Given the description of an element on the screen output the (x, y) to click on. 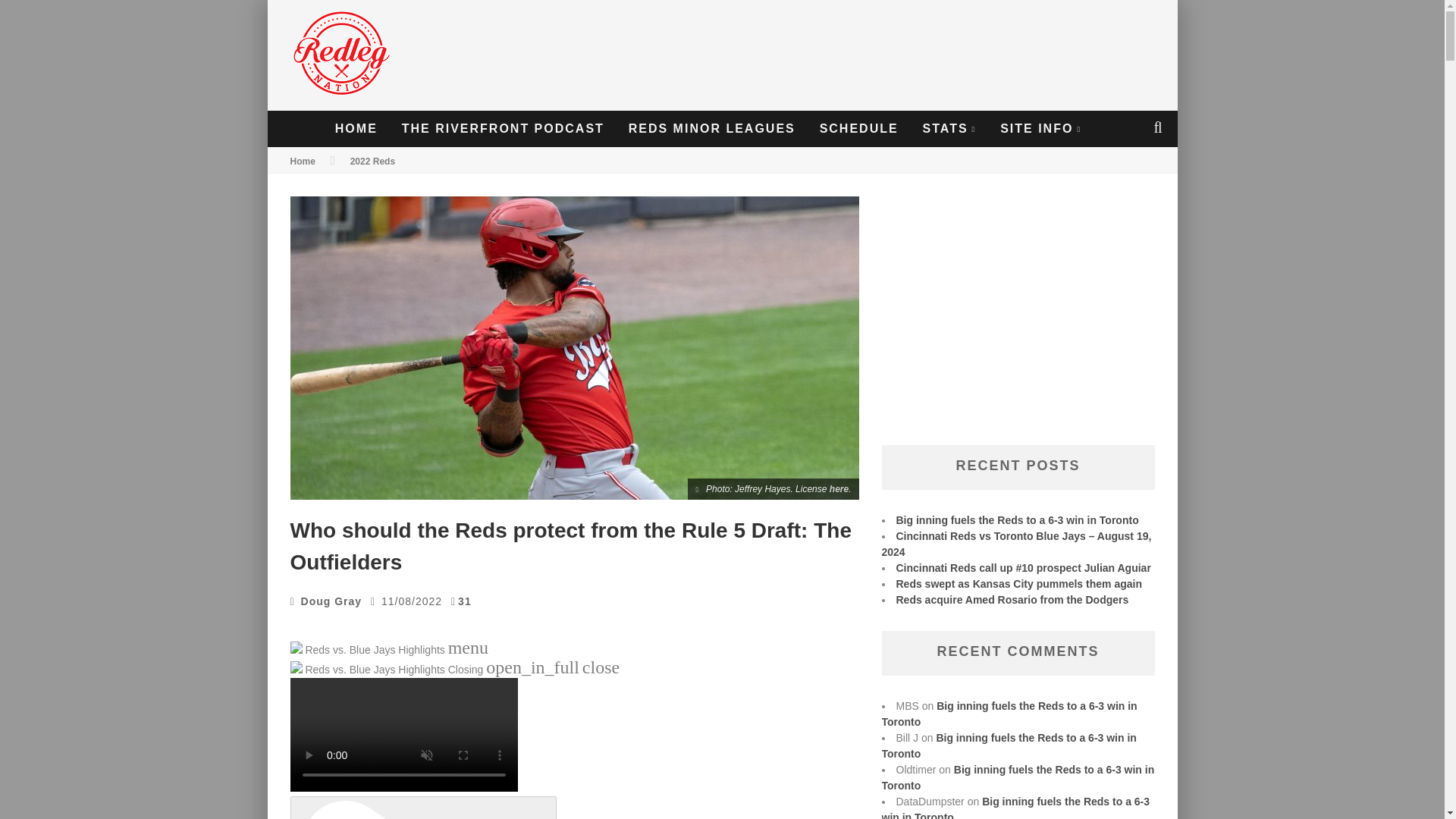
View all posts in 2022 Reds (372, 161)
STATS (949, 128)
2022 Reds (372, 161)
REDS MINOR LEAGUES (711, 128)
here (838, 489)
THE RIVERFRONT PODCAST (502, 128)
Home (301, 161)
31 (464, 601)
SITE INFO (1040, 128)
Doug Gray (331, 601)
